Given the description of an element on the screen output the (x, y) to click on. 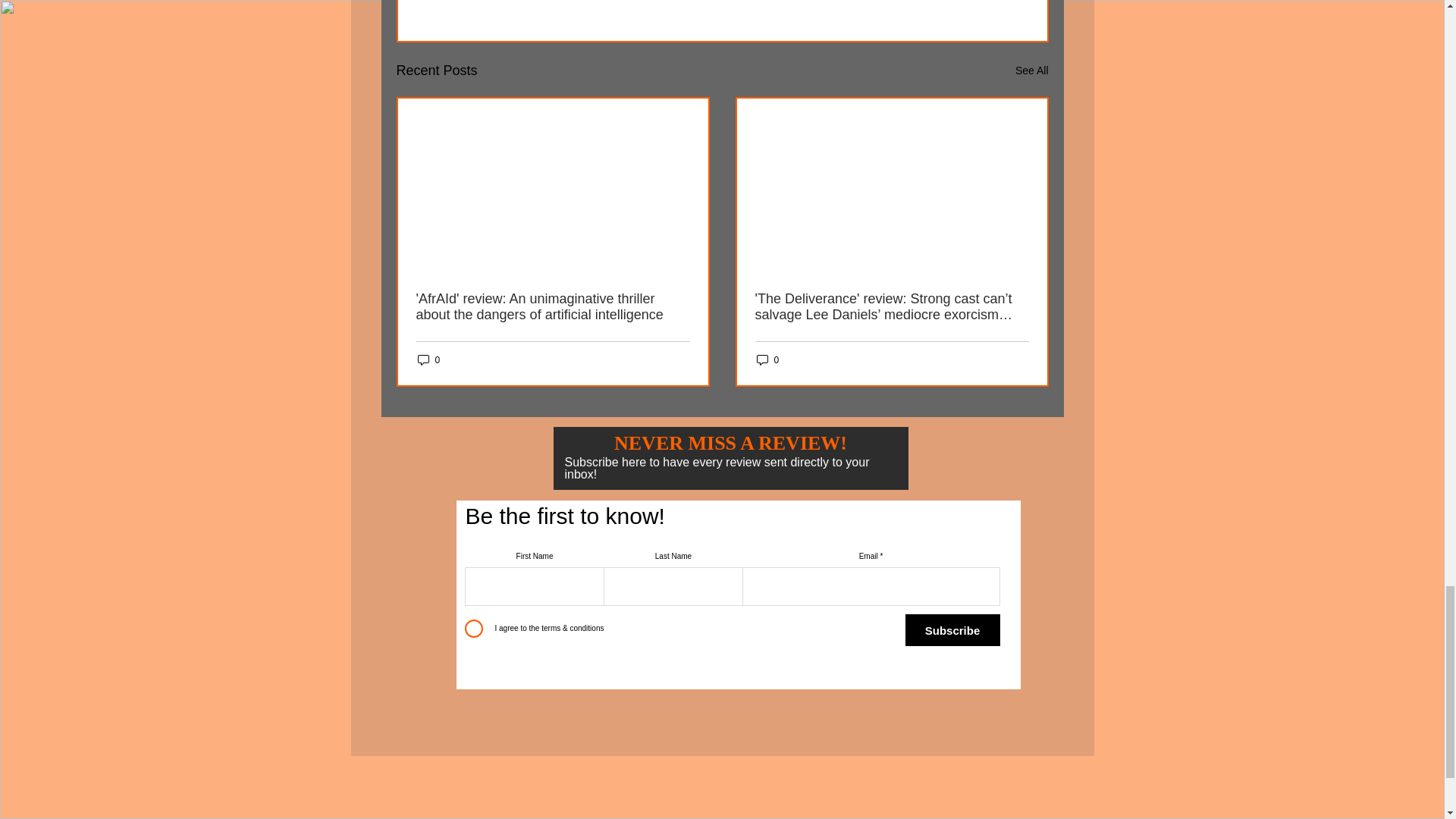
0 (767, 359)
0 (427, 359)
Subscribe (952, 630)
See All (1031, 70)
